Given the description of an element on the screen output the (x, y) to click on. 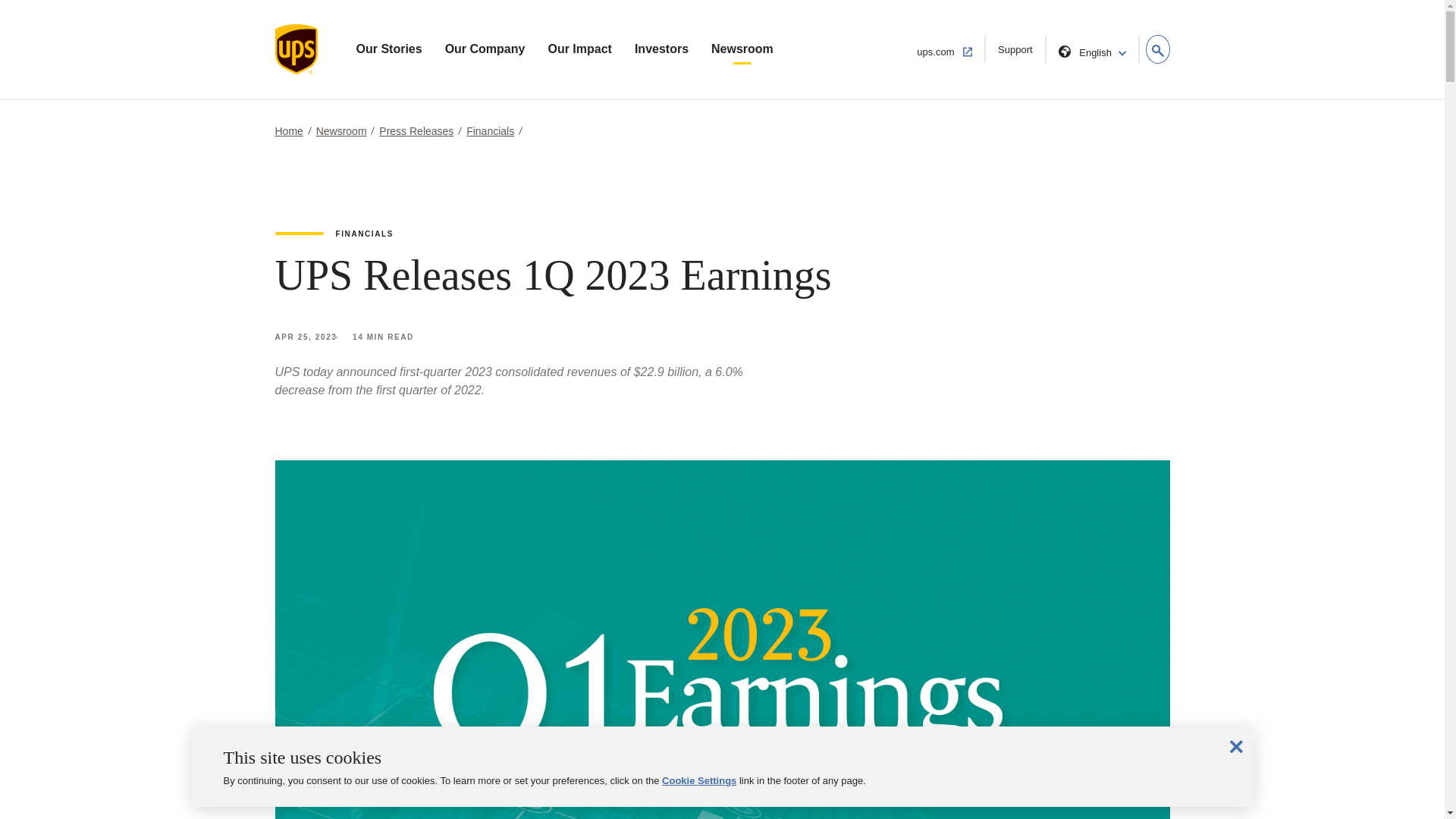
Our Stories (389, 49)
Investors (661, 49)
Our Company (485, 49)
Our Impact (579, 49)
Newsroom (742, 49)
Open Our Company Menu (944, 49)
